Given the description of an element on the screen output the (x, y) to click on. 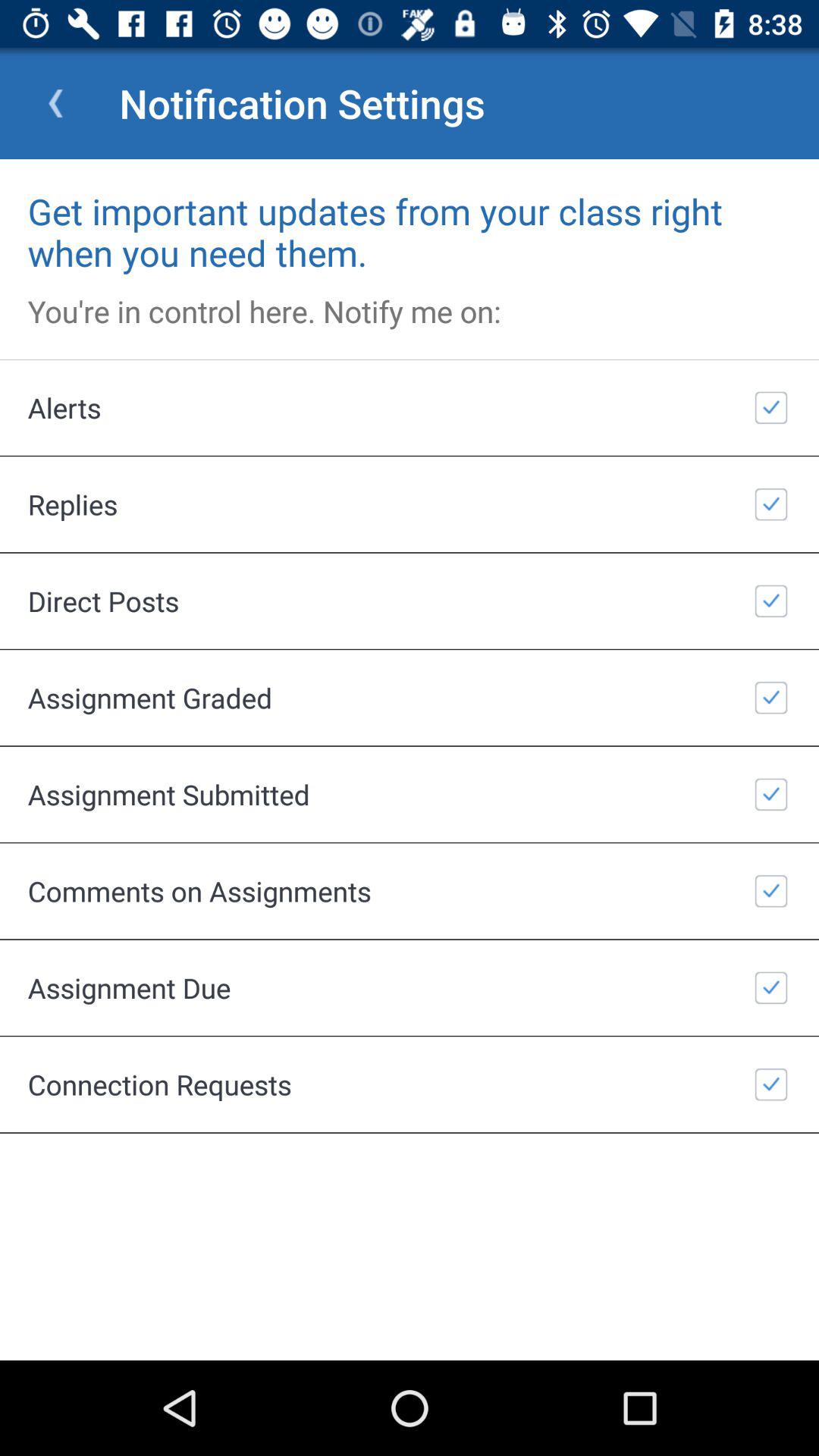
turn on icon above direct posts icon (409, 504)
